Given the description of an element on the screen output the (x, y) to click on. 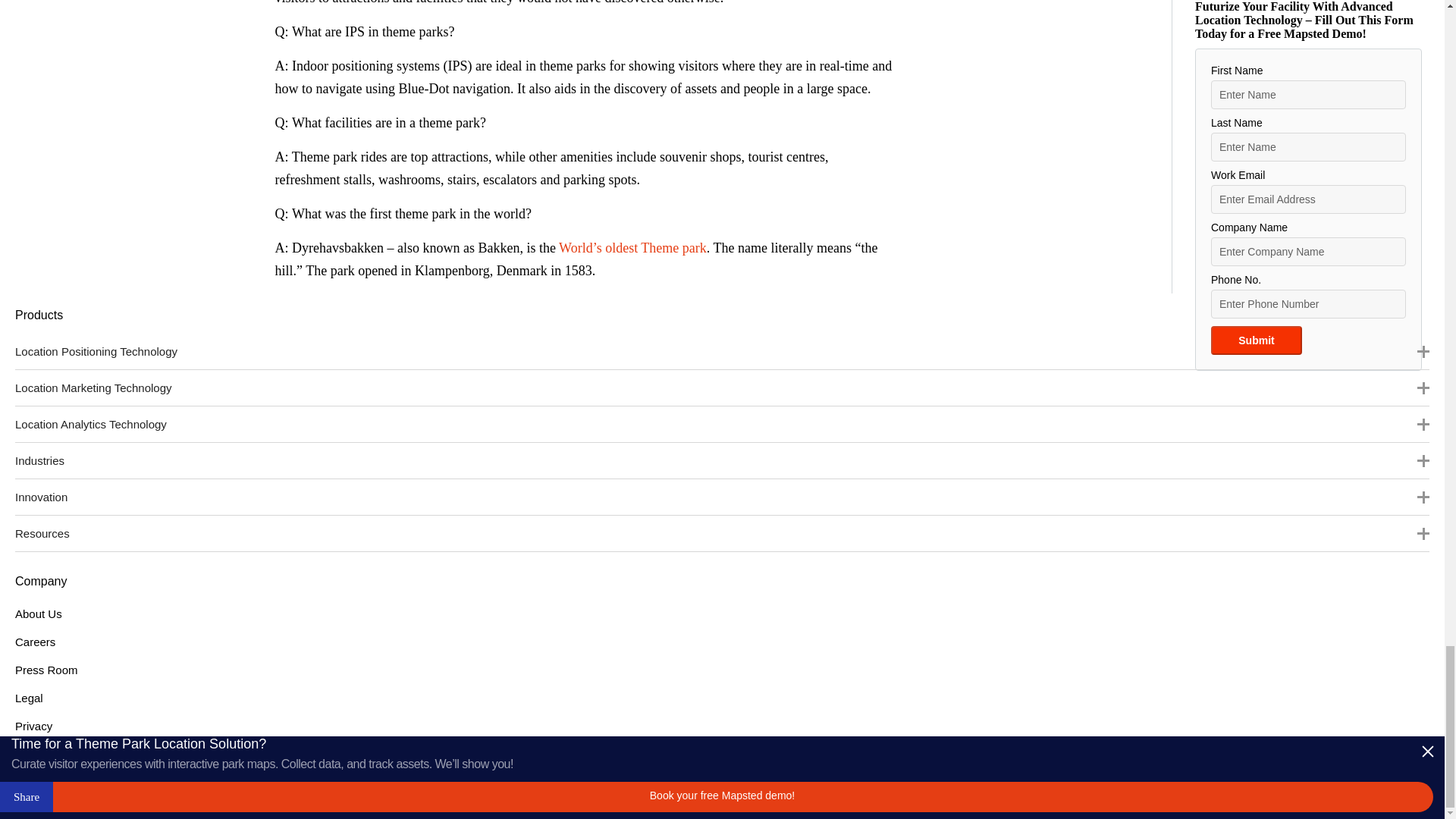
Location Marketing Technology (721, 387)
Location Positioning Technology (721, 351)
Location Analytics Technology (721, 423)
